Given the description of an element on the screen output the (x, y) to click on. 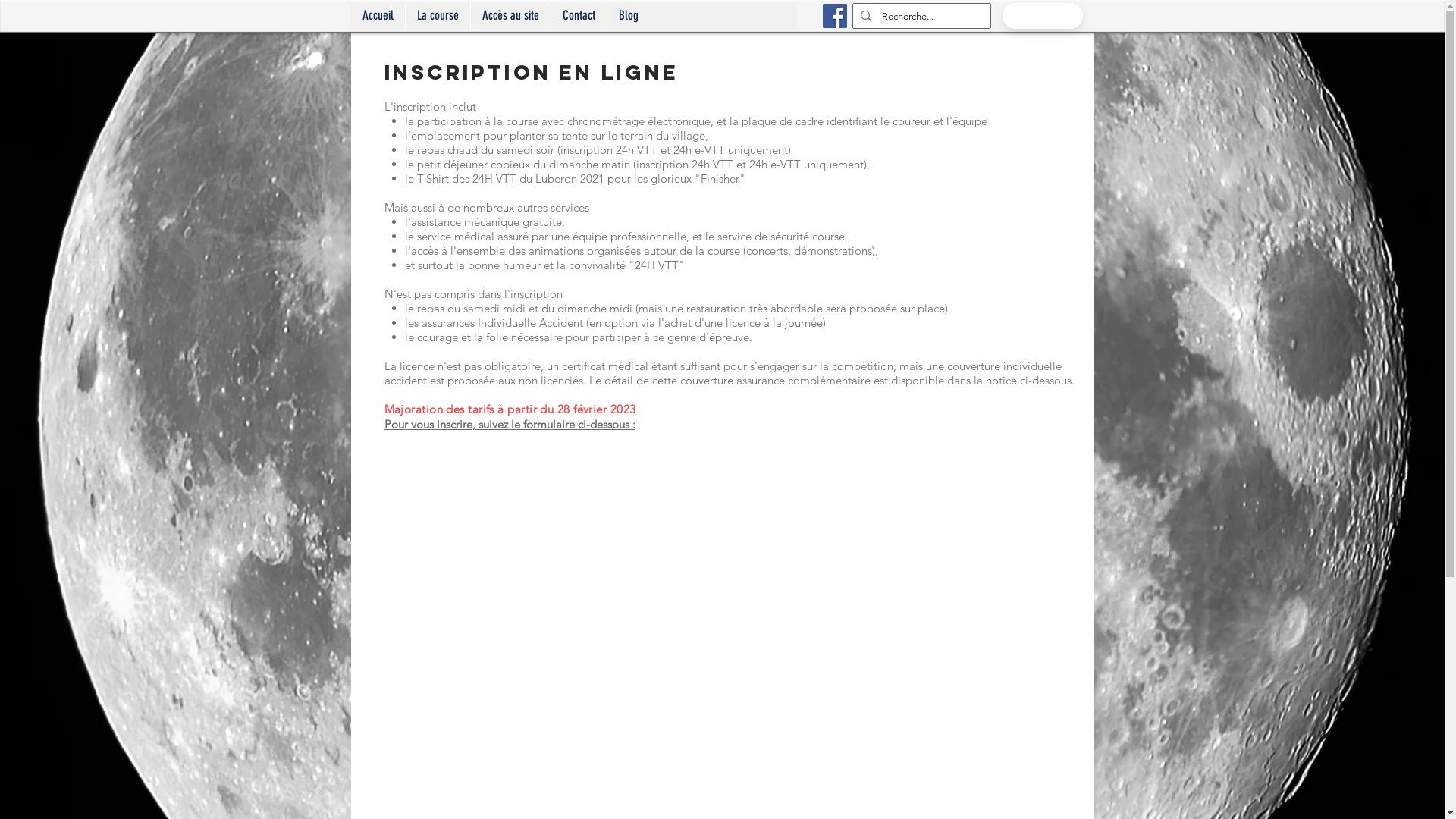
La course Element type: text (437, 15)
Contact Element type: text (578, 15)
Accueil Element type: text (377, 15)
Blog Element type: text (627, 15)
